Given the description of an element on the screen output the (x, y) to click on. 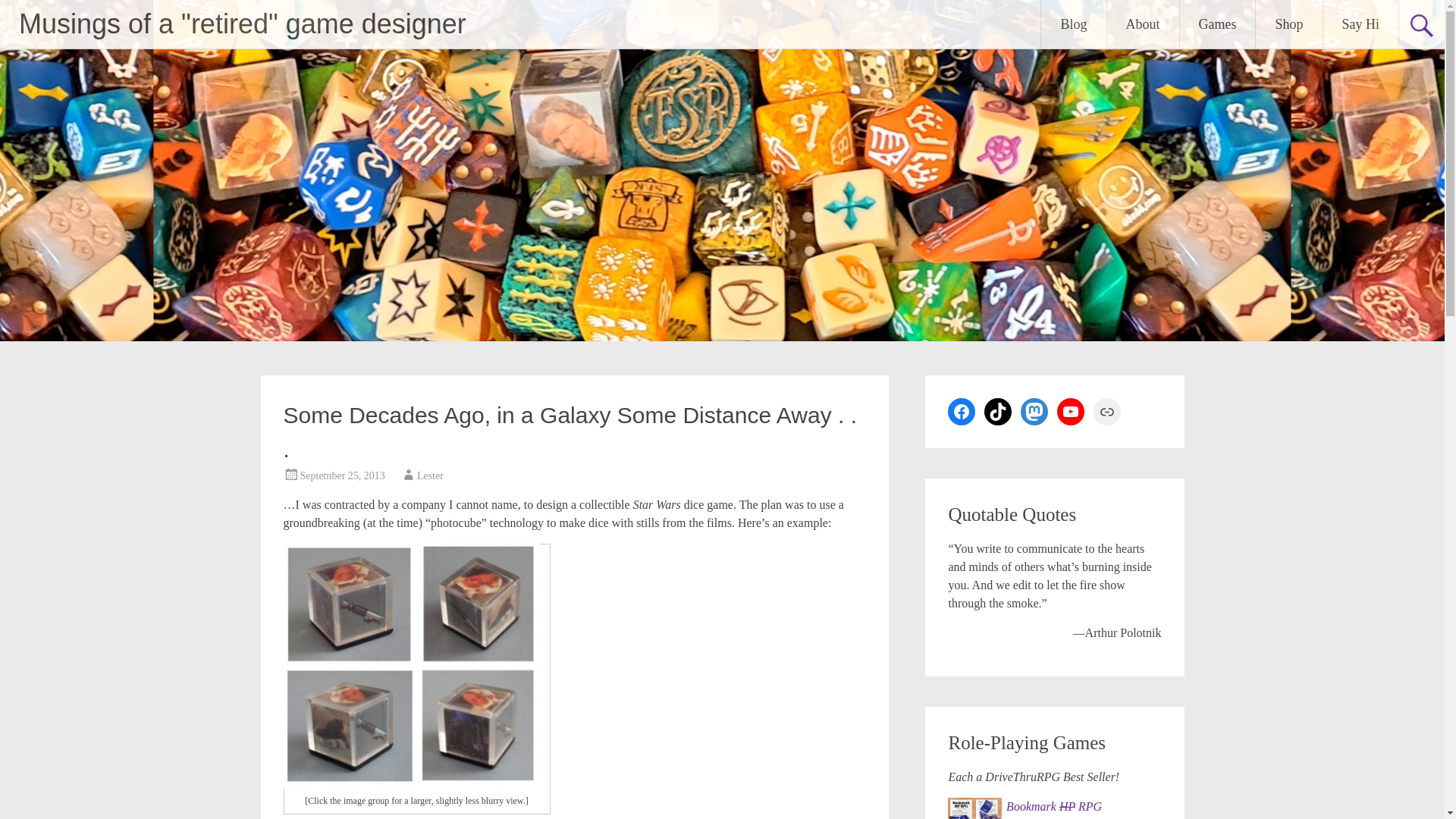
Musings of a "retired" game designer (241, 23)
Say Hi (1359, 24)
Lester (430, 475)
Musings of a "retired" game designer (241, 23)
September 25, 2013 (342, 475)
Blog (1073, 24)
Games (1217, 24)
About (1142, 24)
Shop (1288, 24)
